Given the description of an element on the screen output the (x, y) to click on. 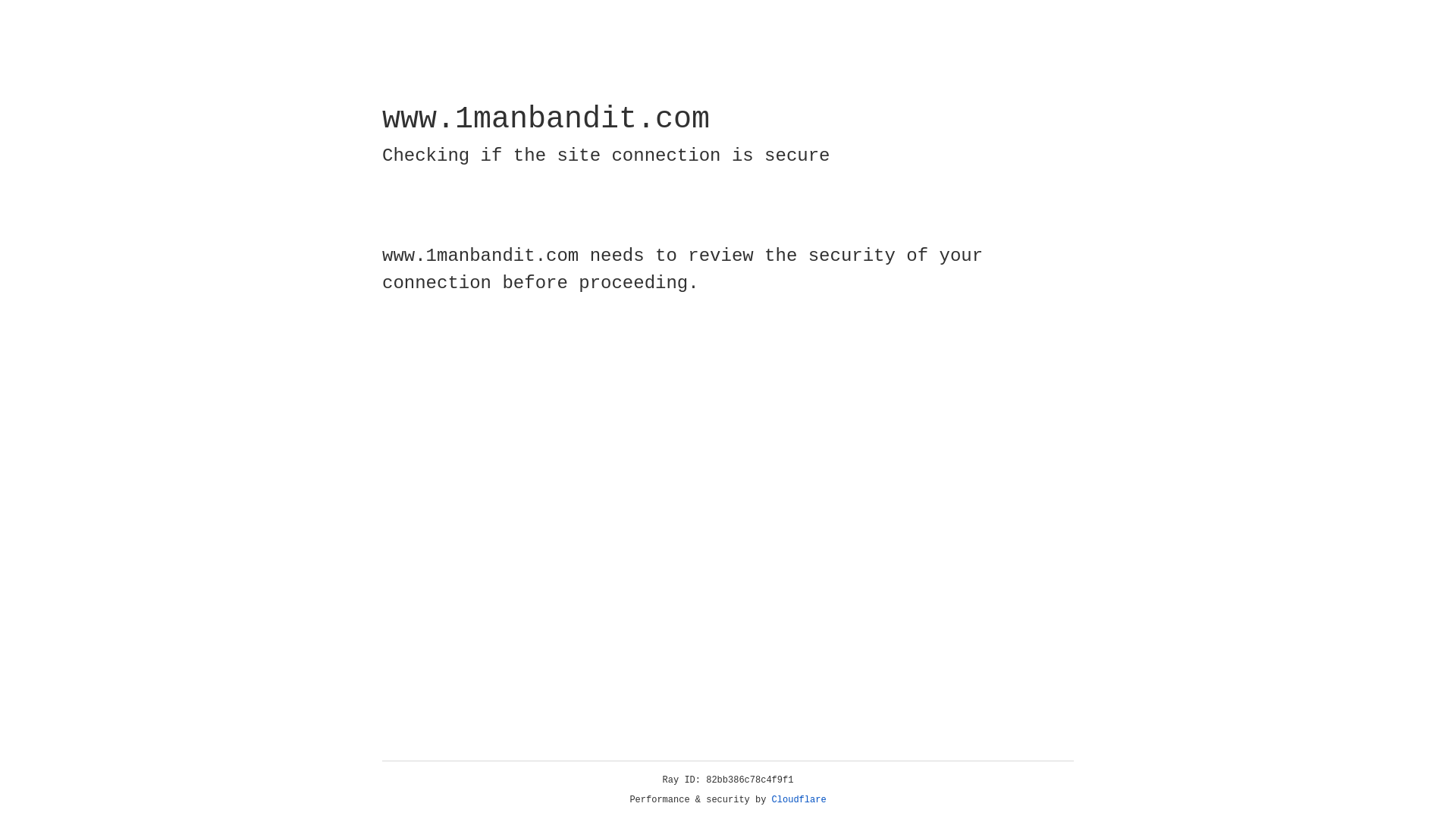
Cloudflare Element type: text (798, 799)
